Given the description of an element on the screen output the (x, y) to click on. 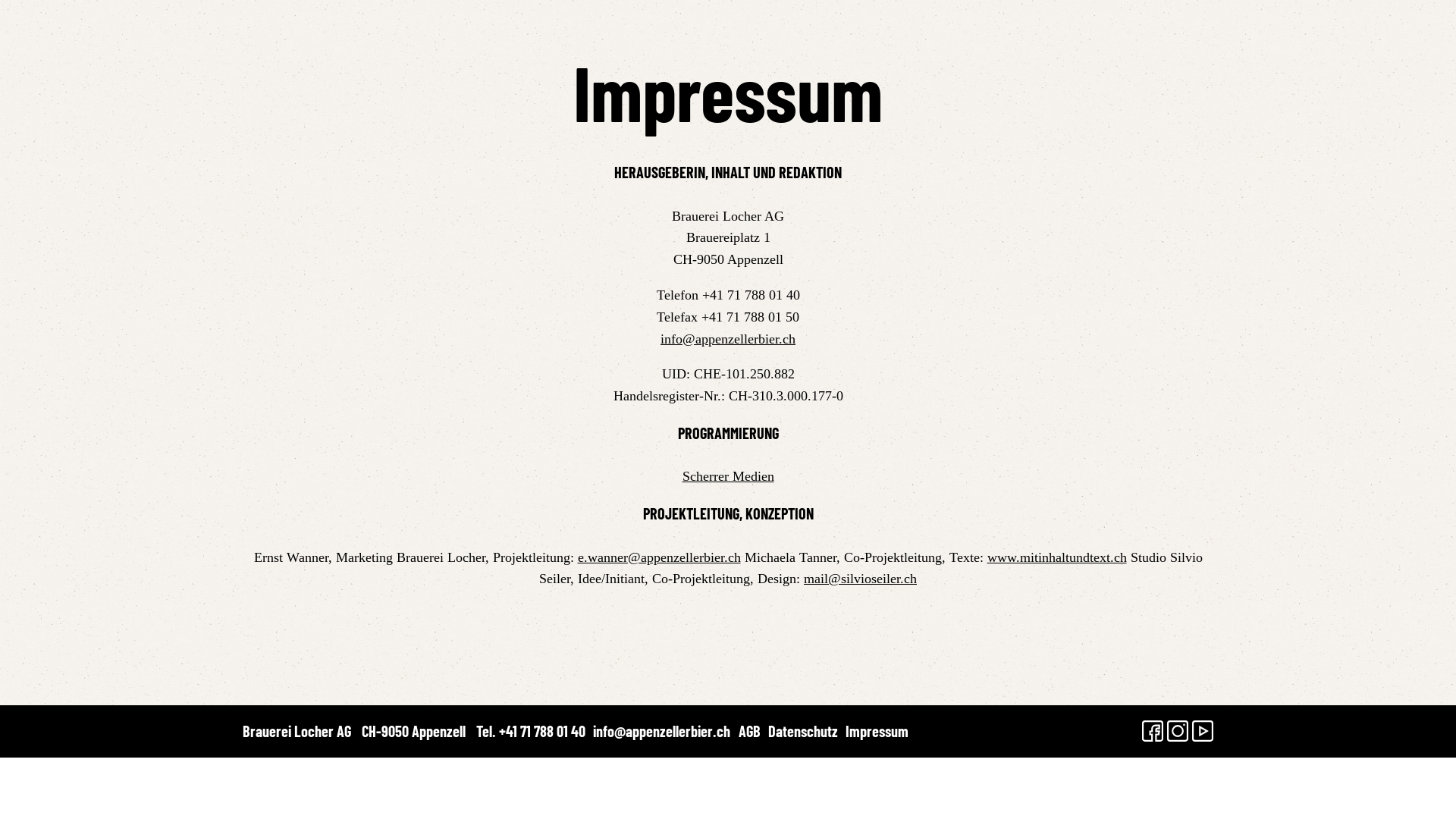
info@appenzellerbier.ch Element type: text (727, 338)
Scherrer Medien Element type: text (728, 475)
www.mitinhaltundtext.ch Element type: text (1056, 556)
info@appenzellerbier.ch Element type: text (661, 730)
AGB Element type: text (749, 730)
e.wanner@appenzellerbier.ch Element type: text (658, 556)
Datenschutz Element type: text (802, 730)
mail@silvioseiler.ch Element type: text (859, 578)
